Given the description of an element on the screen output the (x, y) to click on. 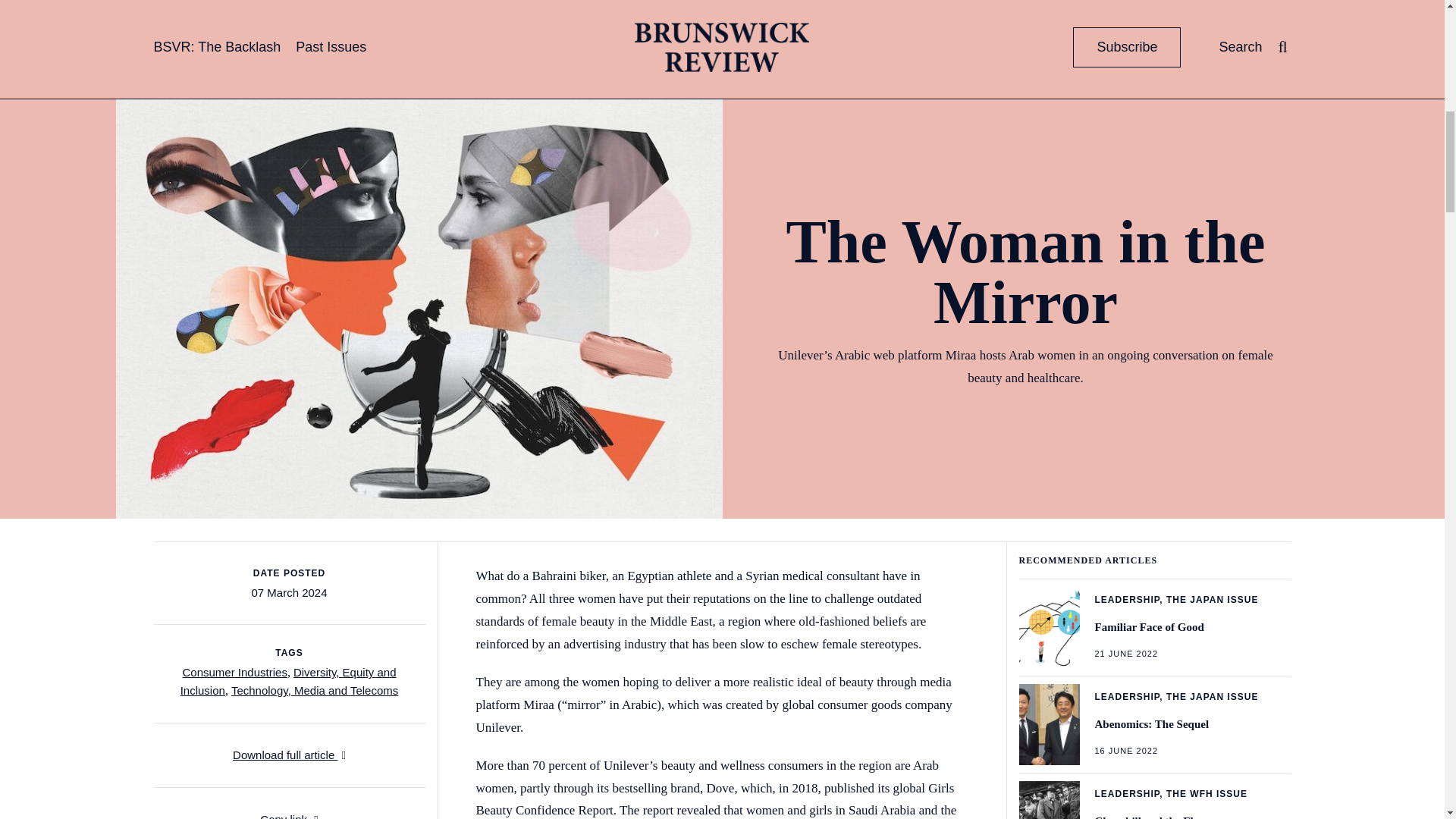
Copy link (288, 4)
